Given the description of an element on the screen output the (x, y) to click on. 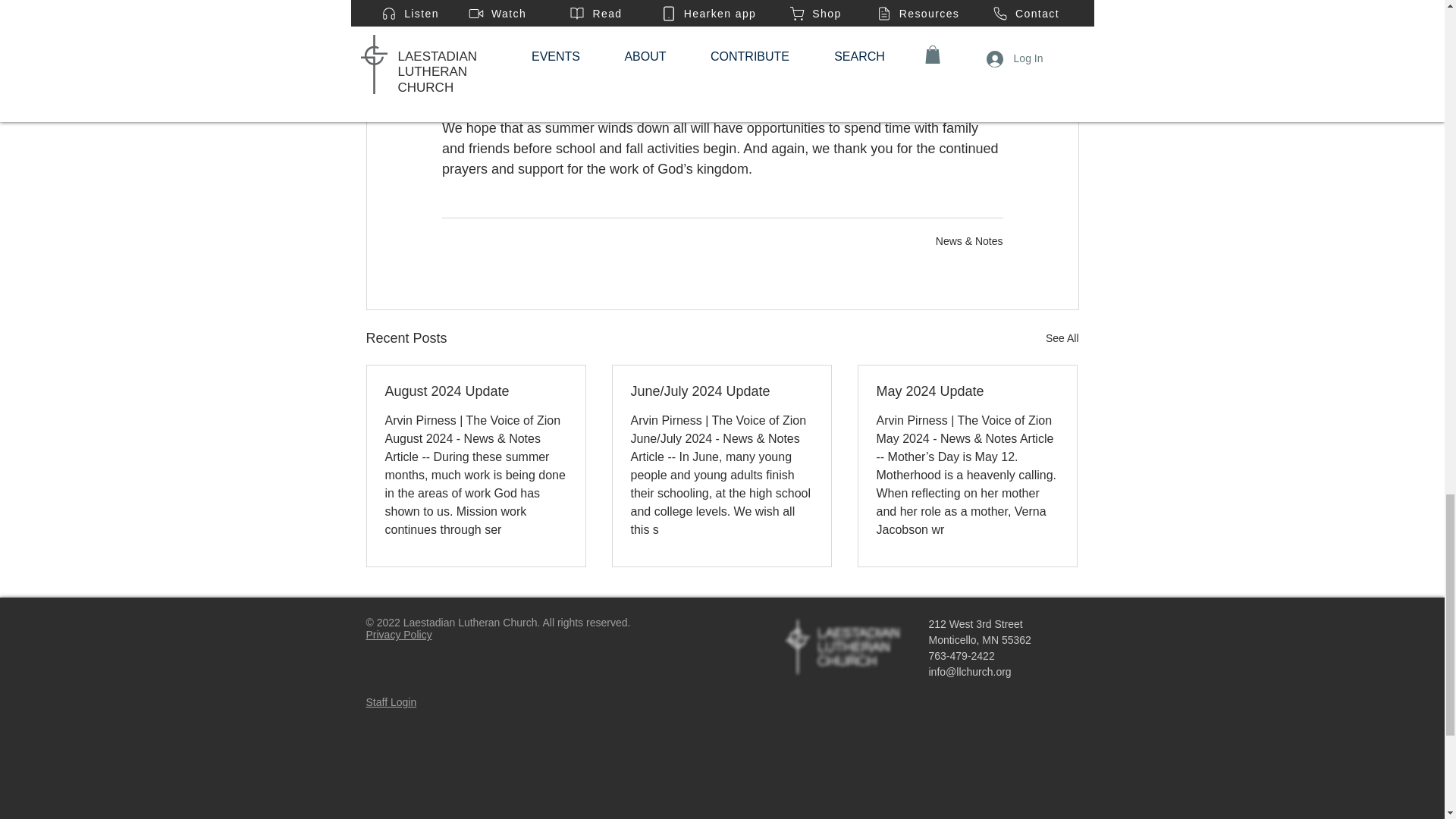
Privacy Policy (397, 634)
May 2024 Update (967, 391)
August 2024 Update (476, 391)
See All (1061, 338)
Staff Login (390, 702)
